Given the description of an element on the screen output the (x, y) to click on. 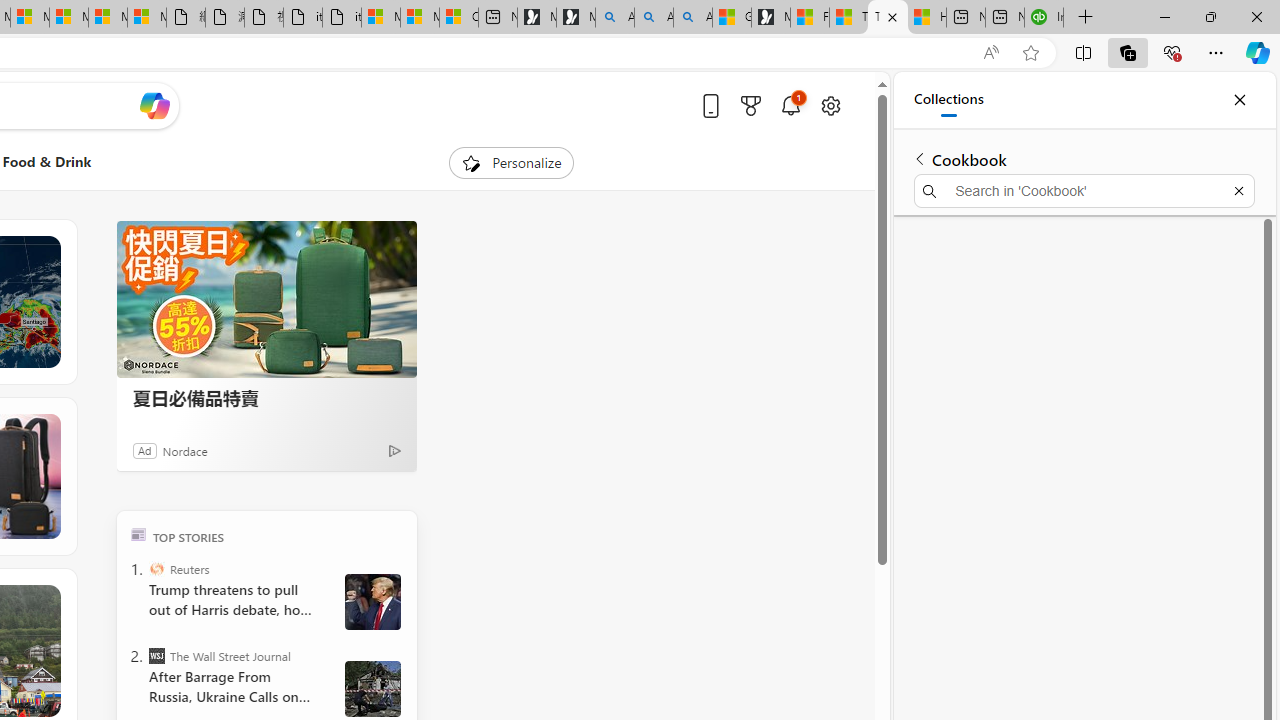
Back to list of collections (920, 158)
The Wall Street Journal (156, 655)
Exit search (1238, 190)
itconcepthk.com/projector_solutions.mp4 (341, 17)
